Given the description of an element on the screen output the (x, y) to click on. 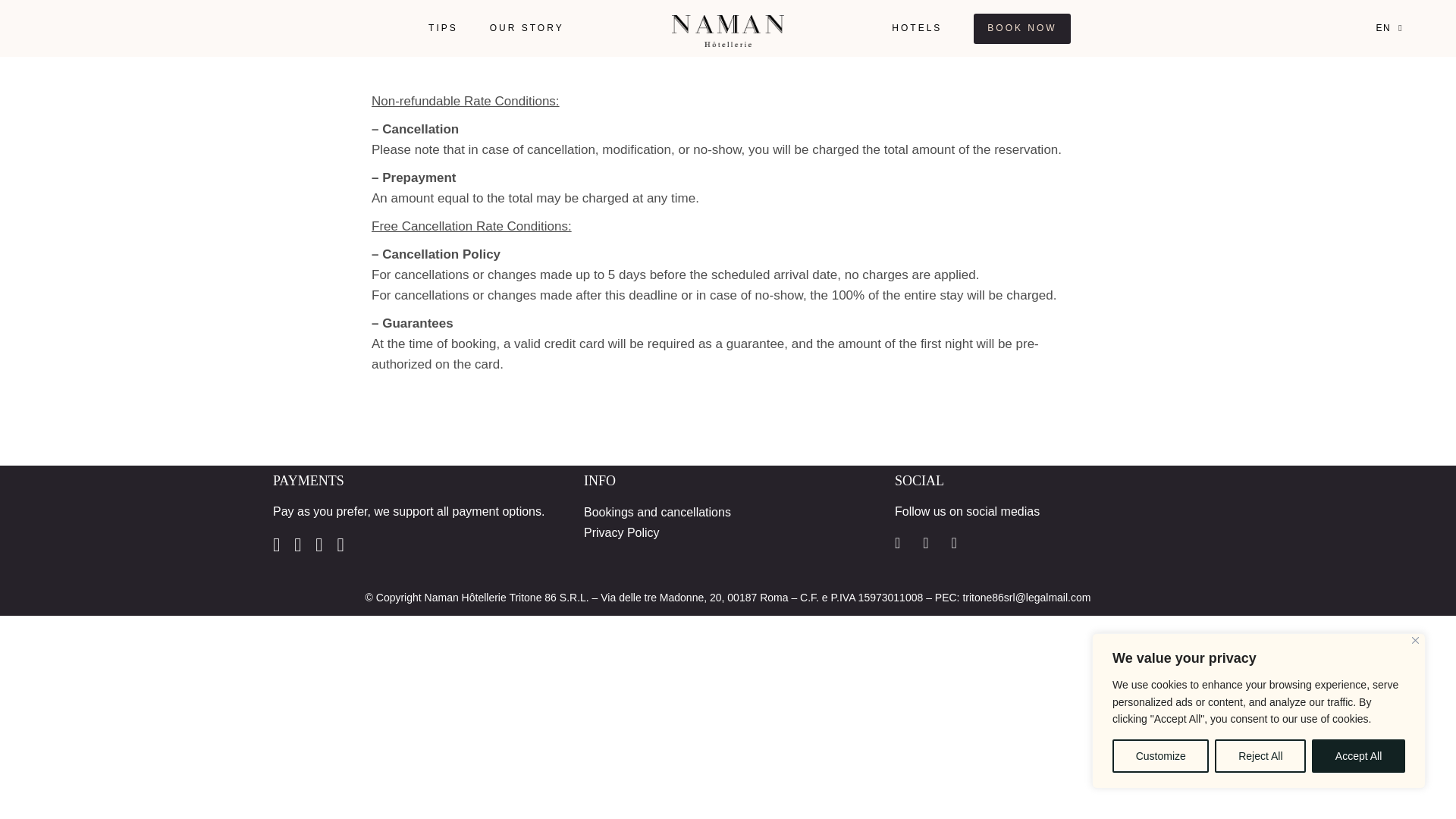
OUR STORY (526, 28)
EN (1393, 28)
BOOK NOW (1022, 28)
